Given the description of an element on the screen output the (x, y) to click on. 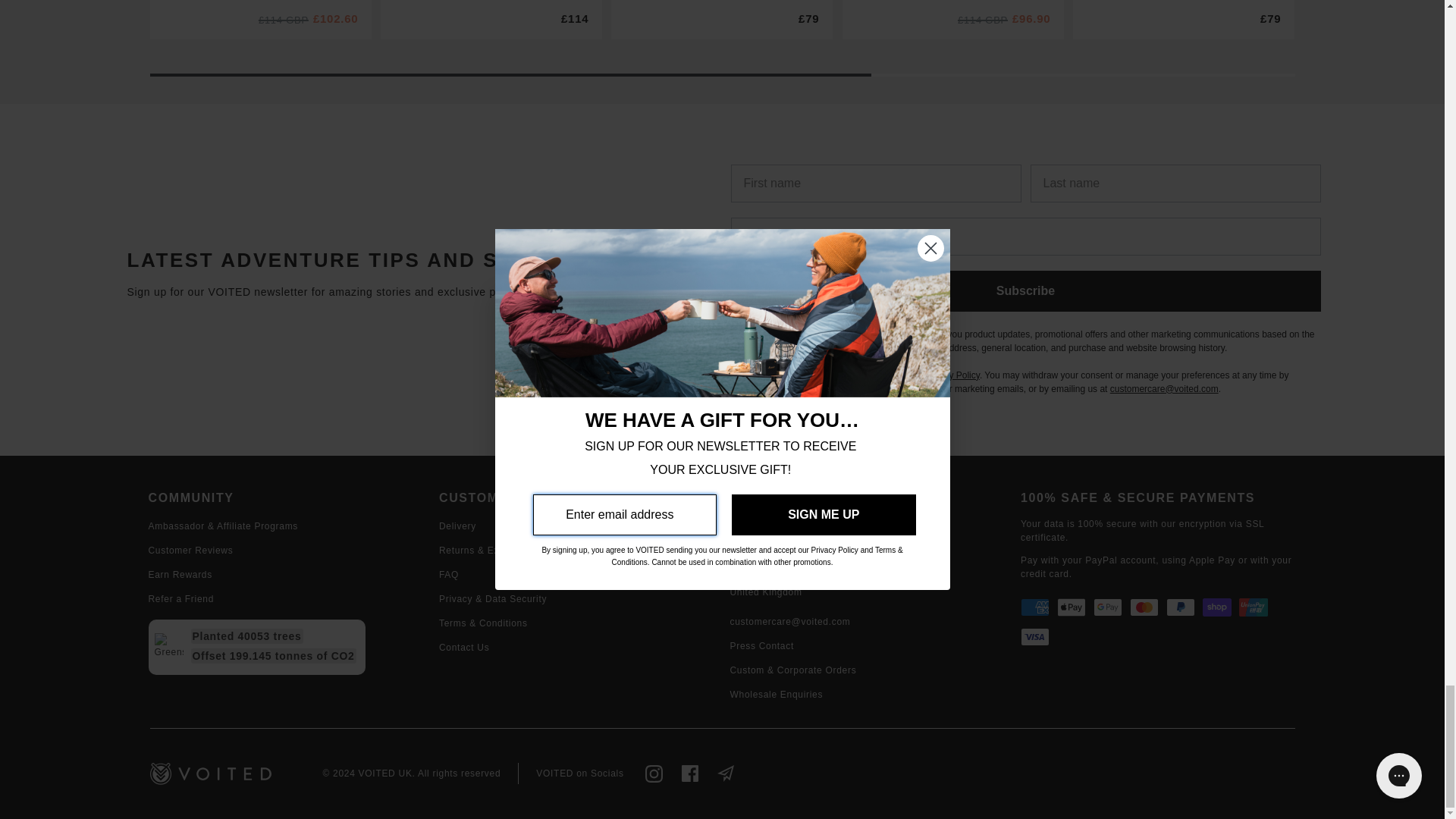
Google Pay (1107, 607)
Shop Pay (1216, 607)
Visa (1034, 637)
Apple Pay (1071, 607)
PayPal (1180, 607)
Mastercard (1143, 607)
Union Pay (1253, 607)
American Express (1034, 607)
